Given the description of an element on the screen output the (x, y) to click on. 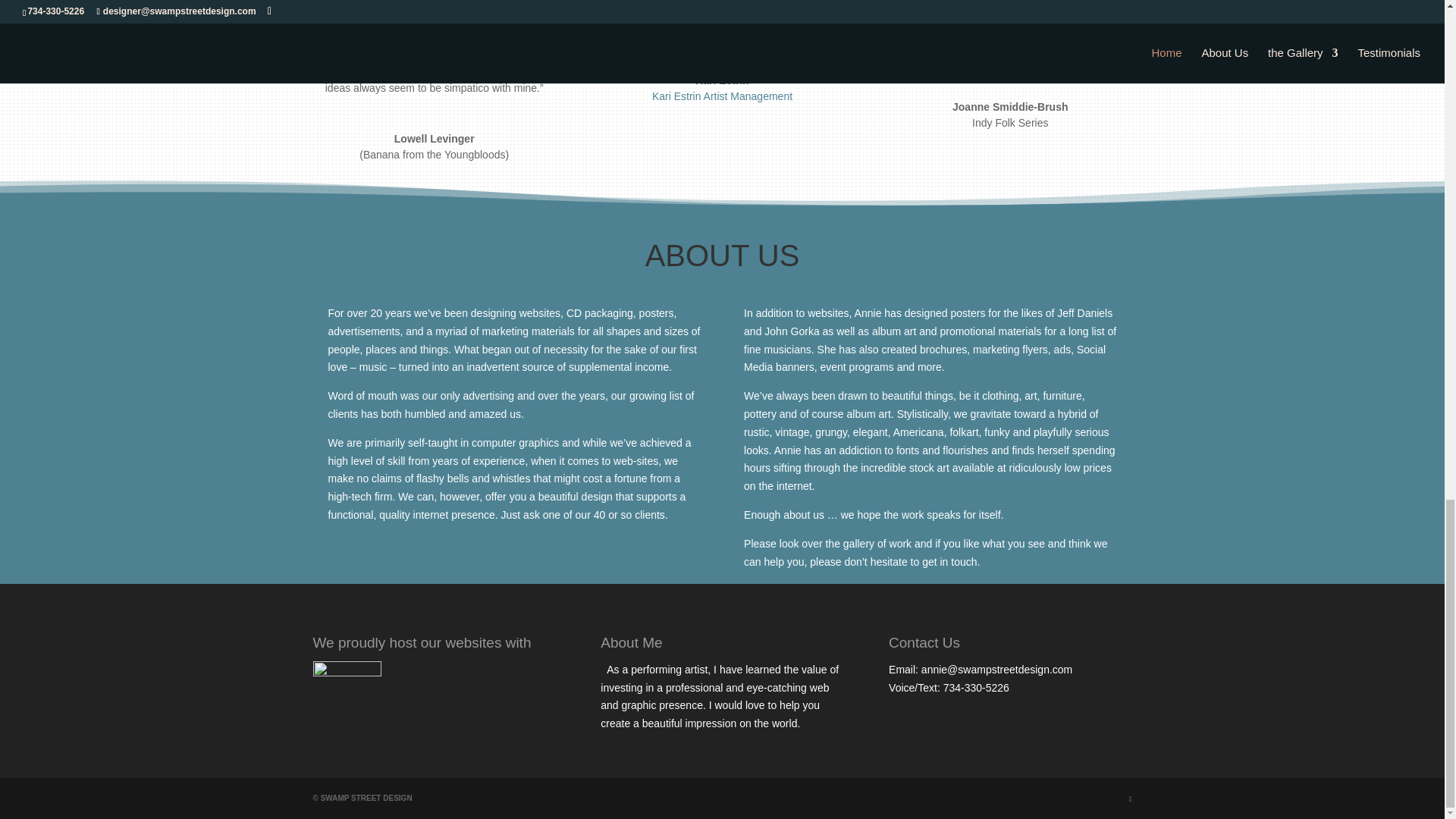
Swamp Street Design (366, 797)
Joanne Smiddie-Brush (1009, 106)
Kari Estrin Artist Management (722, 96)
Lowell Levinger (434, 138)
SWAMP STREET DESIGN (366, 797)
